Given the description of an element on the screen output the (x, y) to click on. 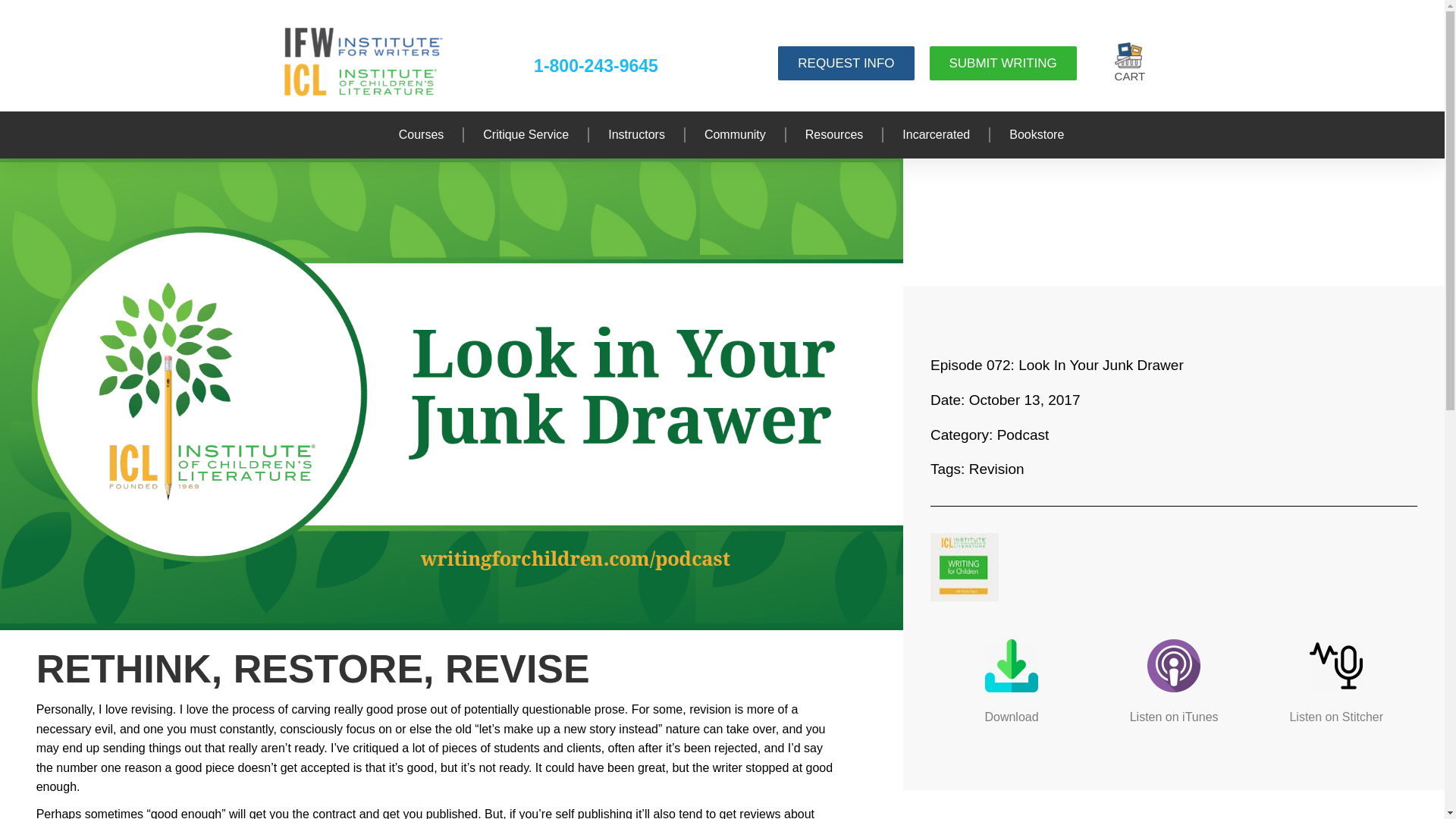
SUBMIT WRITING (1003, 62)
Courses (421, 134)
speech (1335, 665)
1-800-243-9645 (596, 66)
Resources (834, 134)
Critique Service (526, 134)
REQUEST INFO (845, 62)
download1 (1011, 665)
podcast (1173, 665)
Instructors (636, 134)
Community (734, 134)
CART (1128, 63)
